Given the description of an element on the screen output the (x, y) to click on. 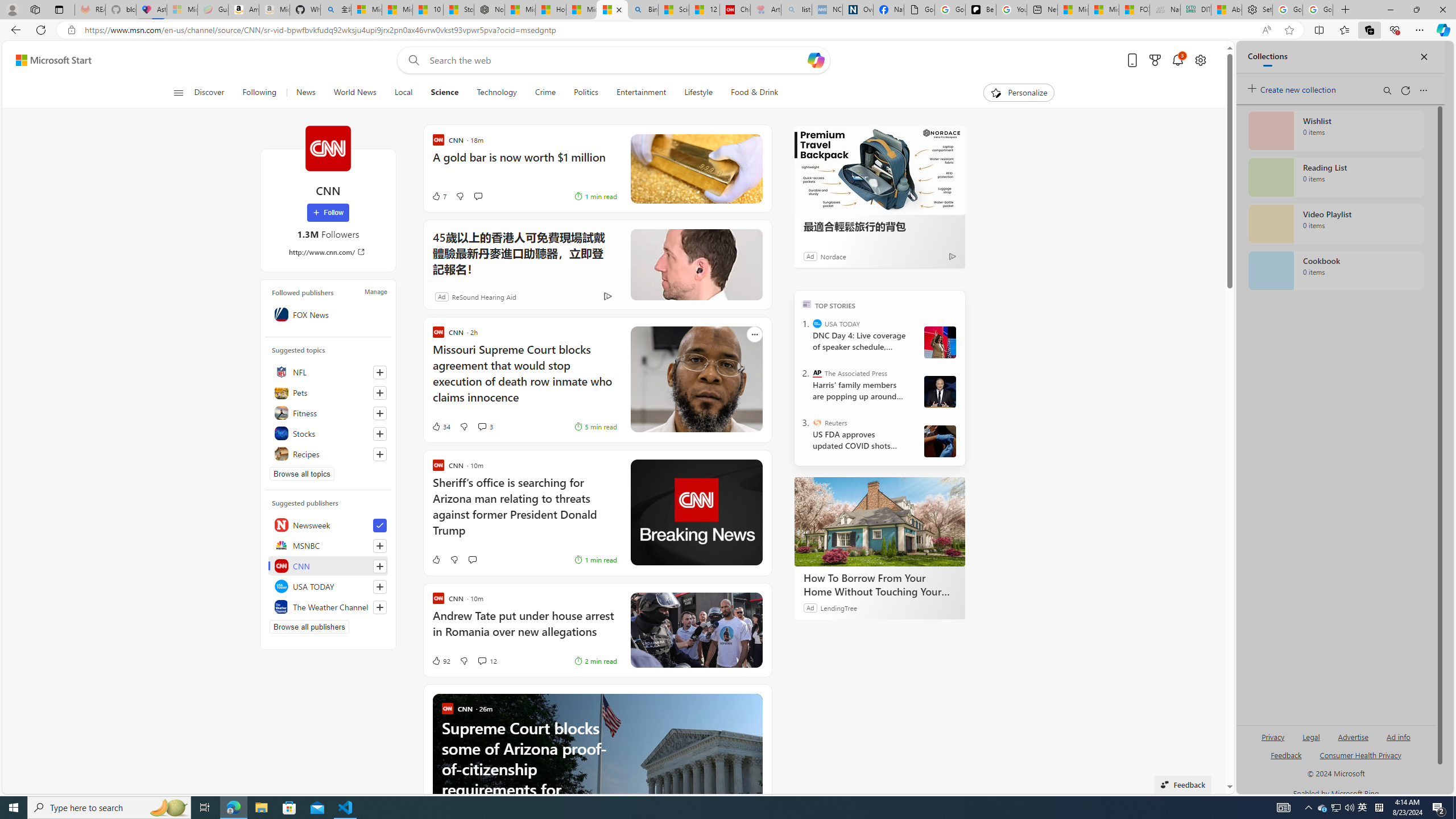
CNN (327, 148)
Follow this topic (379, 454)
Pets (327, 392)
Food & Drink (754, 92)
View comments 3 Comment (481, 426)
